Given the description of an element on the screen output the (x, y) to click on. 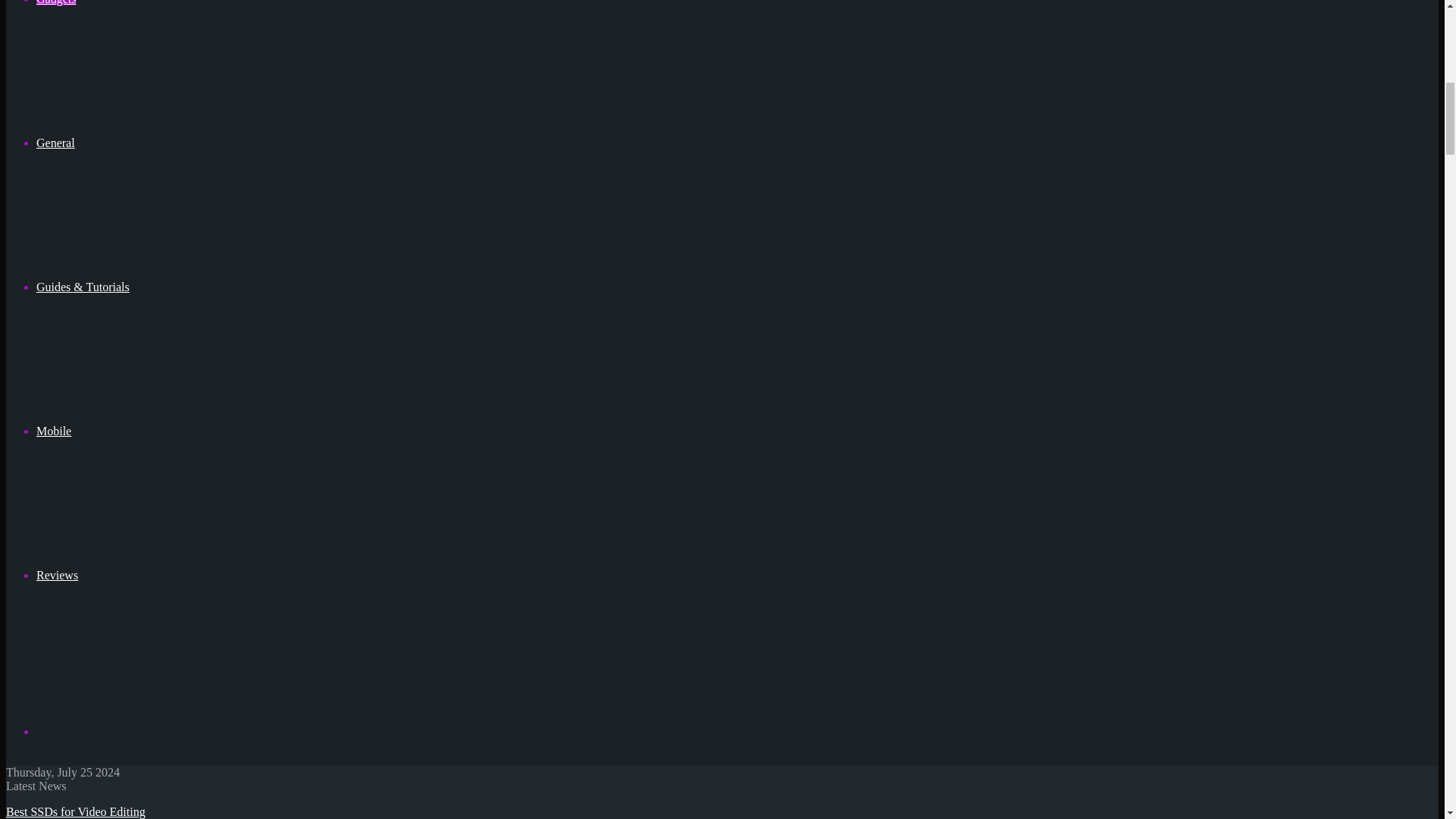
Best SSDs for Video Editing (75, 811)
Mobile (53, 431)
Gadgets (55, 2)
Reviews (57, 574)
General (55, 142)
